Given the description of an element on the screen output the (x, y) to click on. 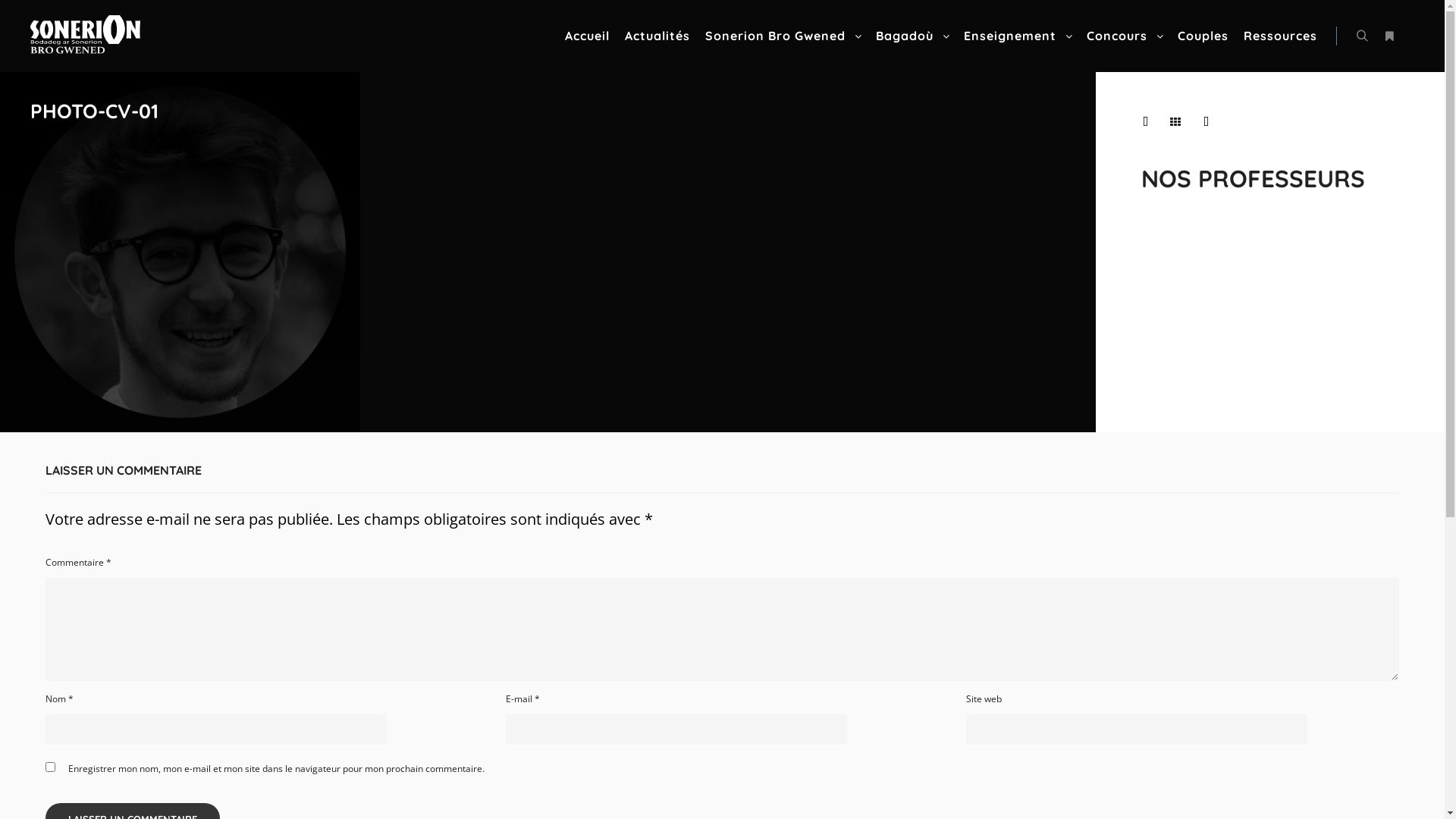
Rechercher Element type: hover (1361, 36)
Ressources Element type: text (1280, 36)
Accueil Element type: text (587, 36)
Couples Element type: text (1203, 36)
Photo-CV-01 Element type: hover (180, 252)
Retour vers  Element type: hover (1175, 121)
Sonerion Bro Gwened Element type: hover (30, 87)
Sonerion Bro Gwened Element type: hover (85, 36)
